Given the description of an element on the screen output the (x, y) to click on. 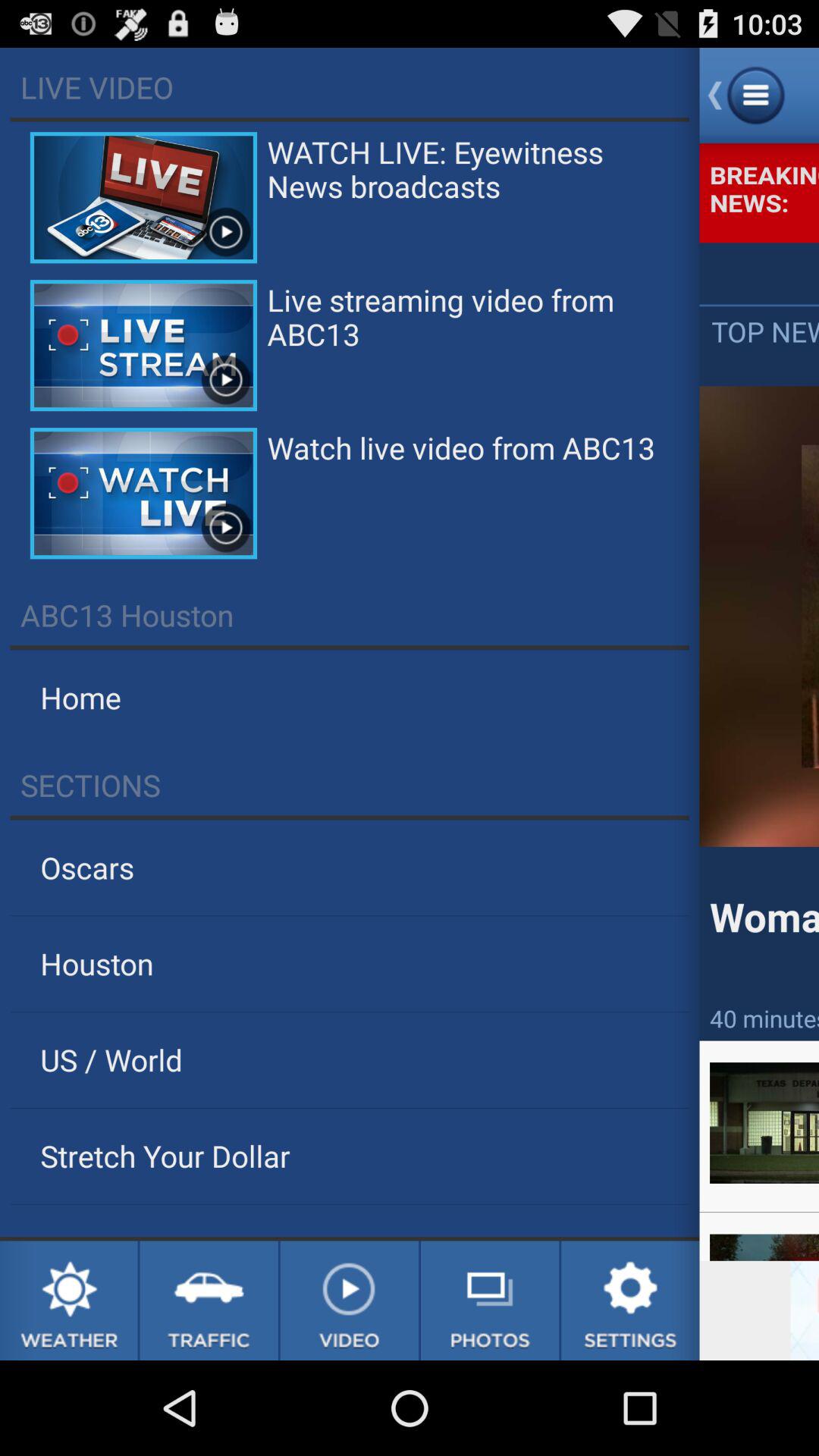
open photos (489, 1300)
